Given the description of an element on the screen output the (x, y) to click on. 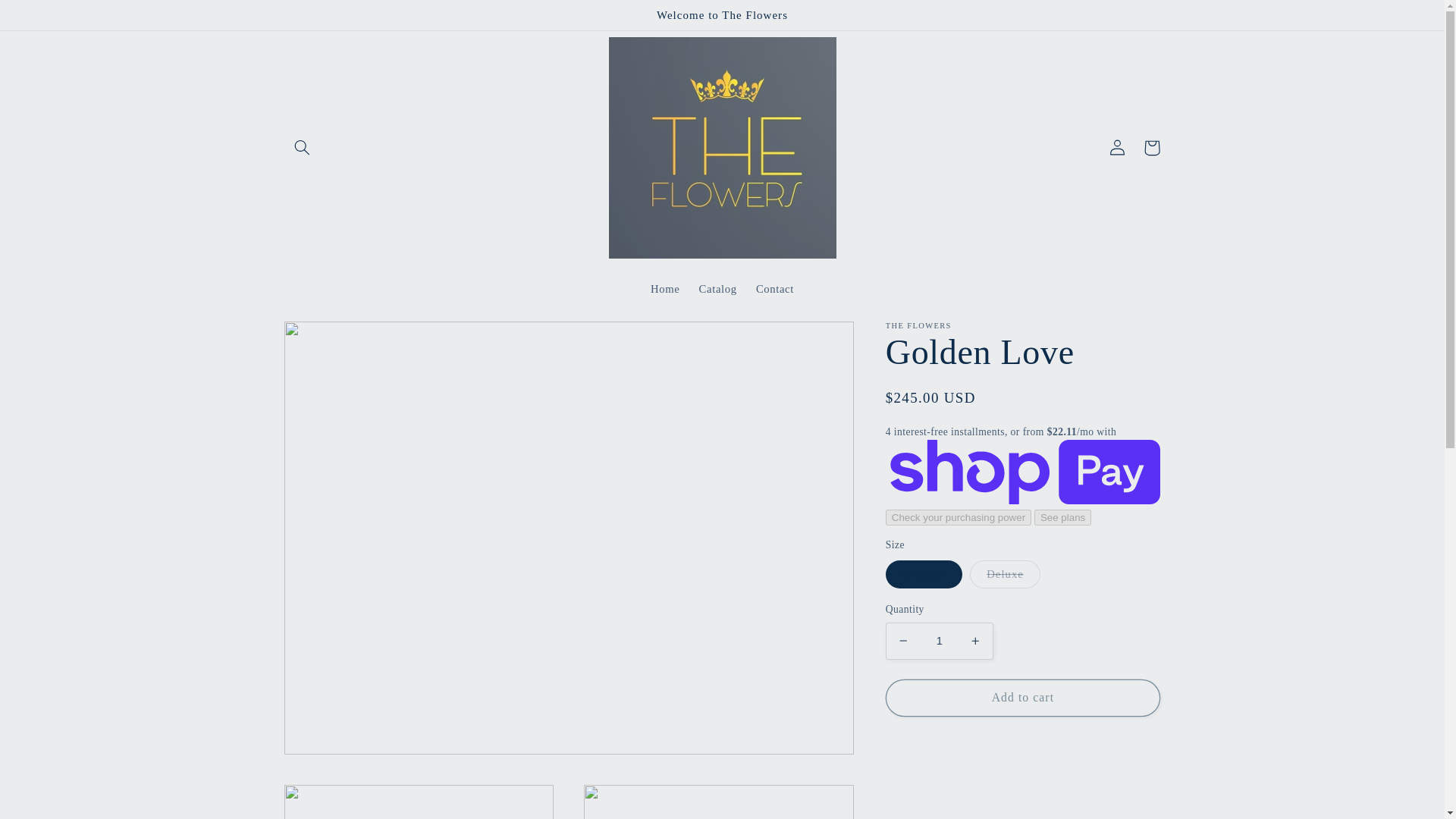
Cart (1151, 147)
1 (939, 640)
Increase quantity for Golden Love (975, 640)
Contact (774, 289)
Add to cart (1022, 697)
Home (664, 289)
Log in (1116, 147)
Skip to content (48, 18)
Skip to product information (331, 339)
